Given the description of an element on the screen output the (x, y) to click on. 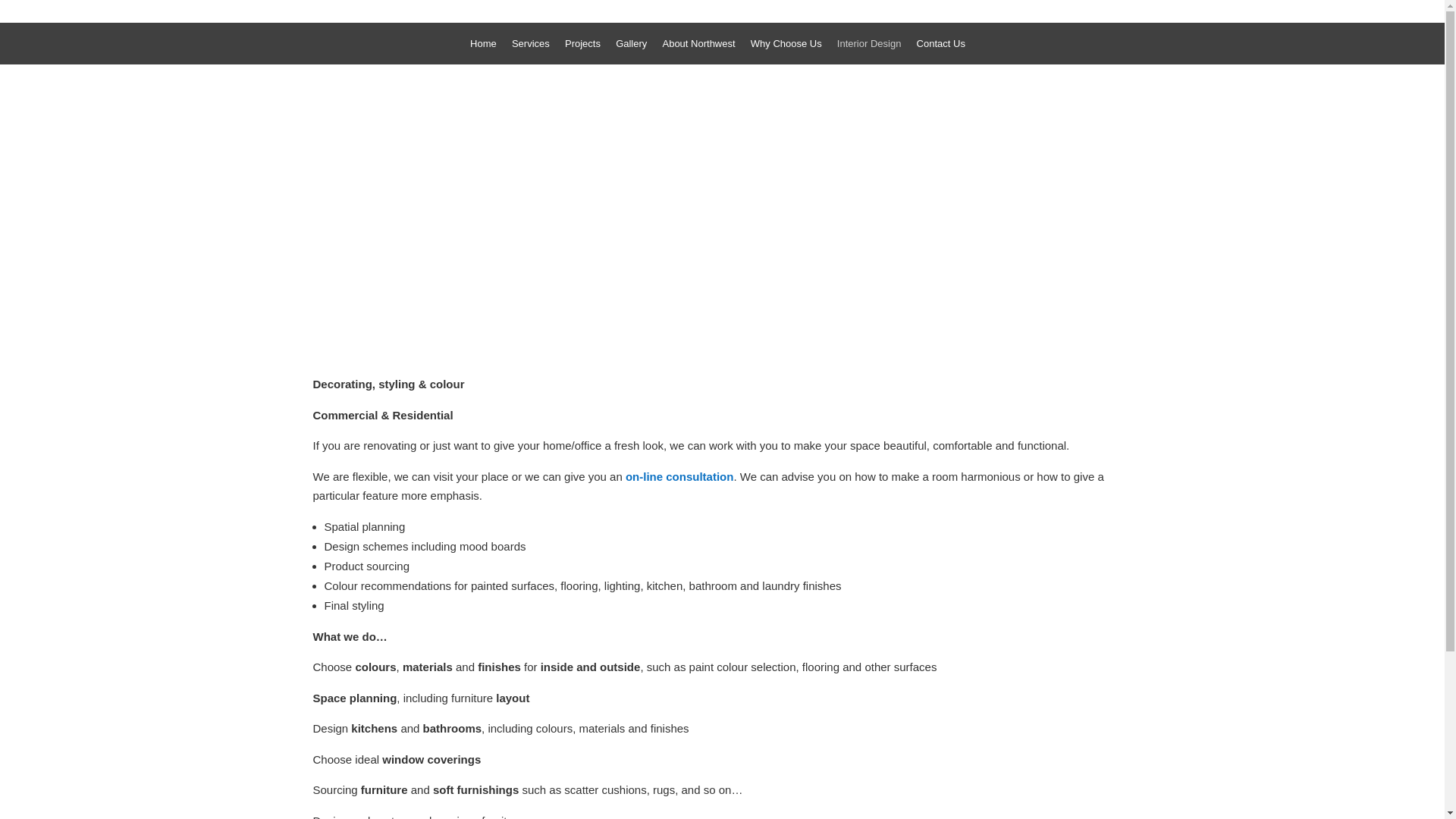
Gallery Element type: text (631, 45)
Projects Element type: text (582, 45)
Services Element type: text (530, 45)
Contact Us Element type: text (940, 45)
Why Choose Us Element type: text (786, 45)
About Northwest Element type: text (698, 45)
on-line consultation Element type: text (679, 476)
Home Element type: text (483, 45)
Interior Design Element type: text (869, 45)
